Given the description of an element on the screen output the (x, y) to click on. 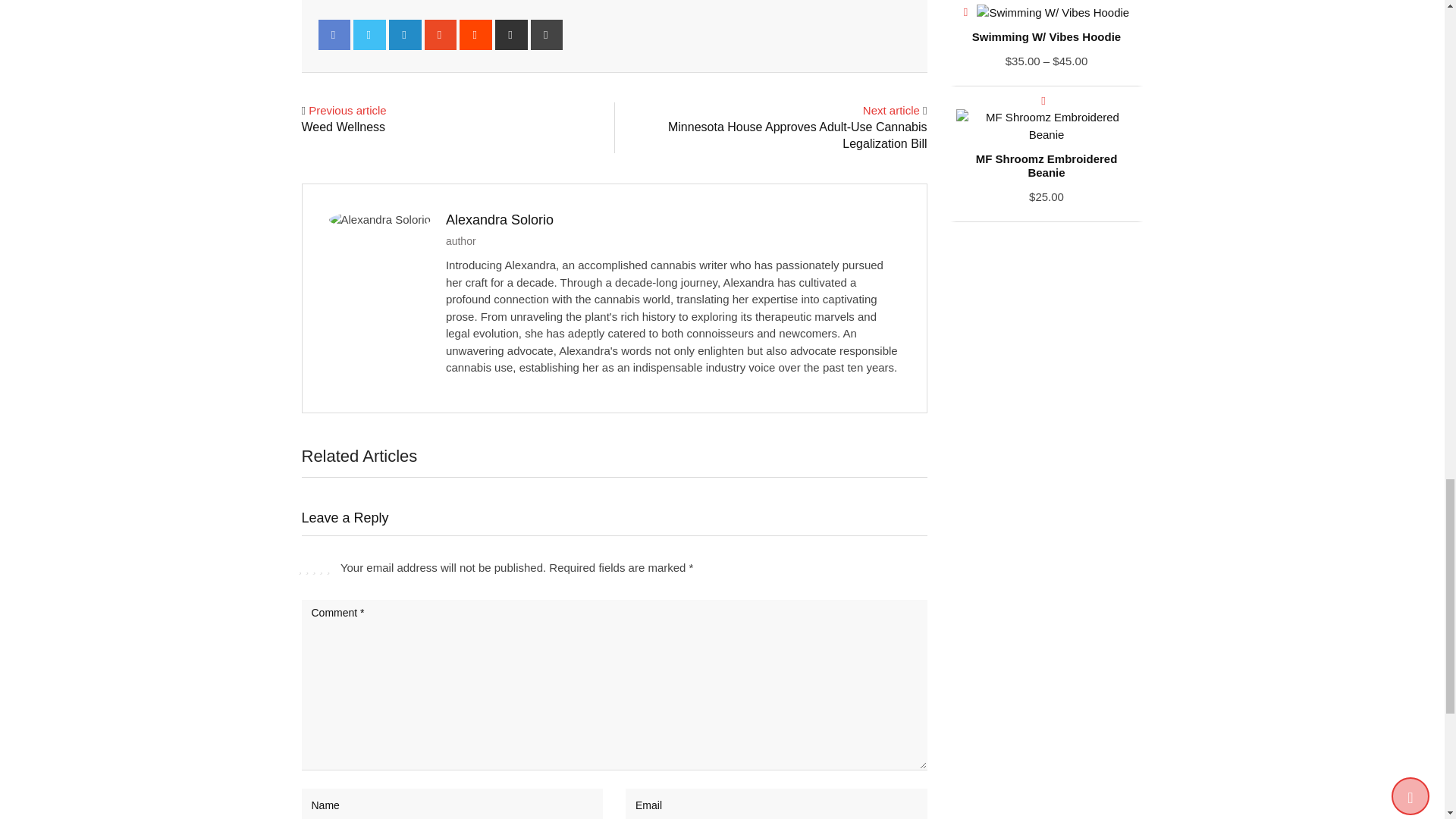
Posts by Alexandra Solorio (499, 219)
